Given the description of an element on the screen output the (x, y) to click on. 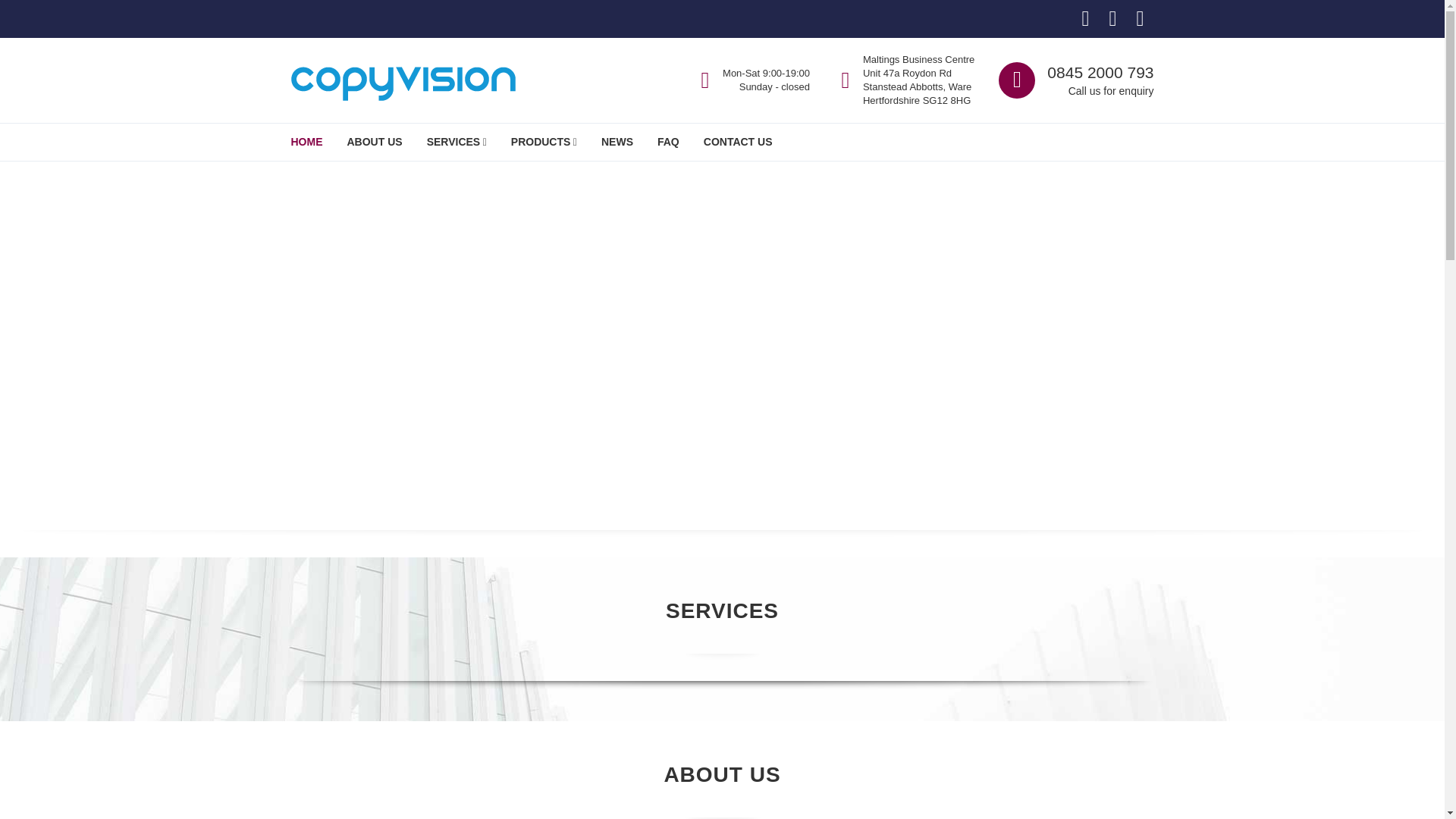
HOME (306, 140)
NEWS (617, 140)
PRODUCTS (544, 140)
SERVICES (456, 140)
ABOUT US (374, 140)
